Given the description of an element on the screen output the (x, y) to click on. 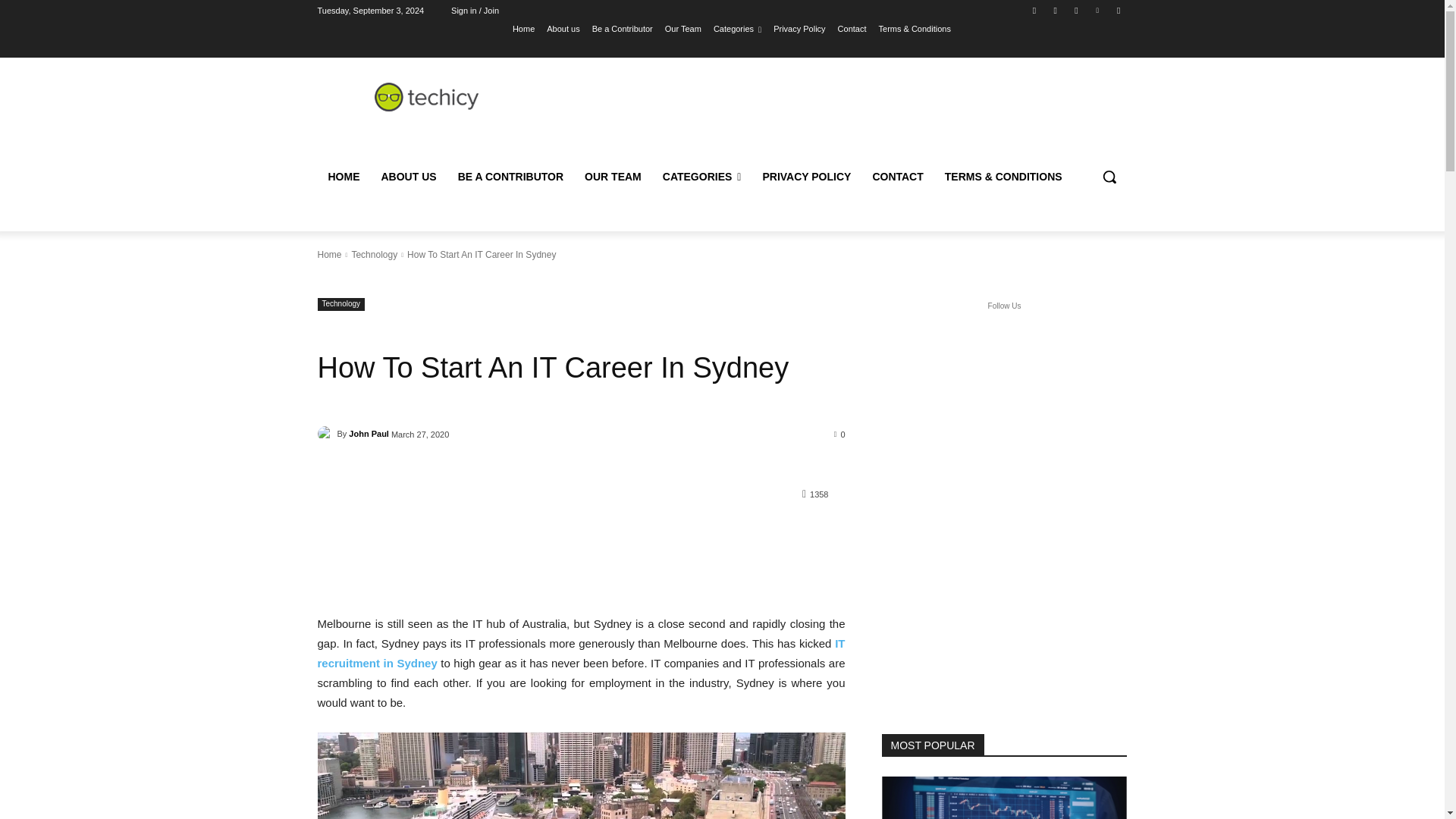
John Paul (326, 433)
Twitter (1075, 9)
Categories (737, 28)
Home (523, 28)
Our Team (683, 28)
Vimeo (1097, 9)
Contact (852, 28)
Facebook (1034, 9)
Instagram (1055, 9)
View all posts in Technology (373, 254)
